Given the description of an element on the screen output the (x, y) to click on. 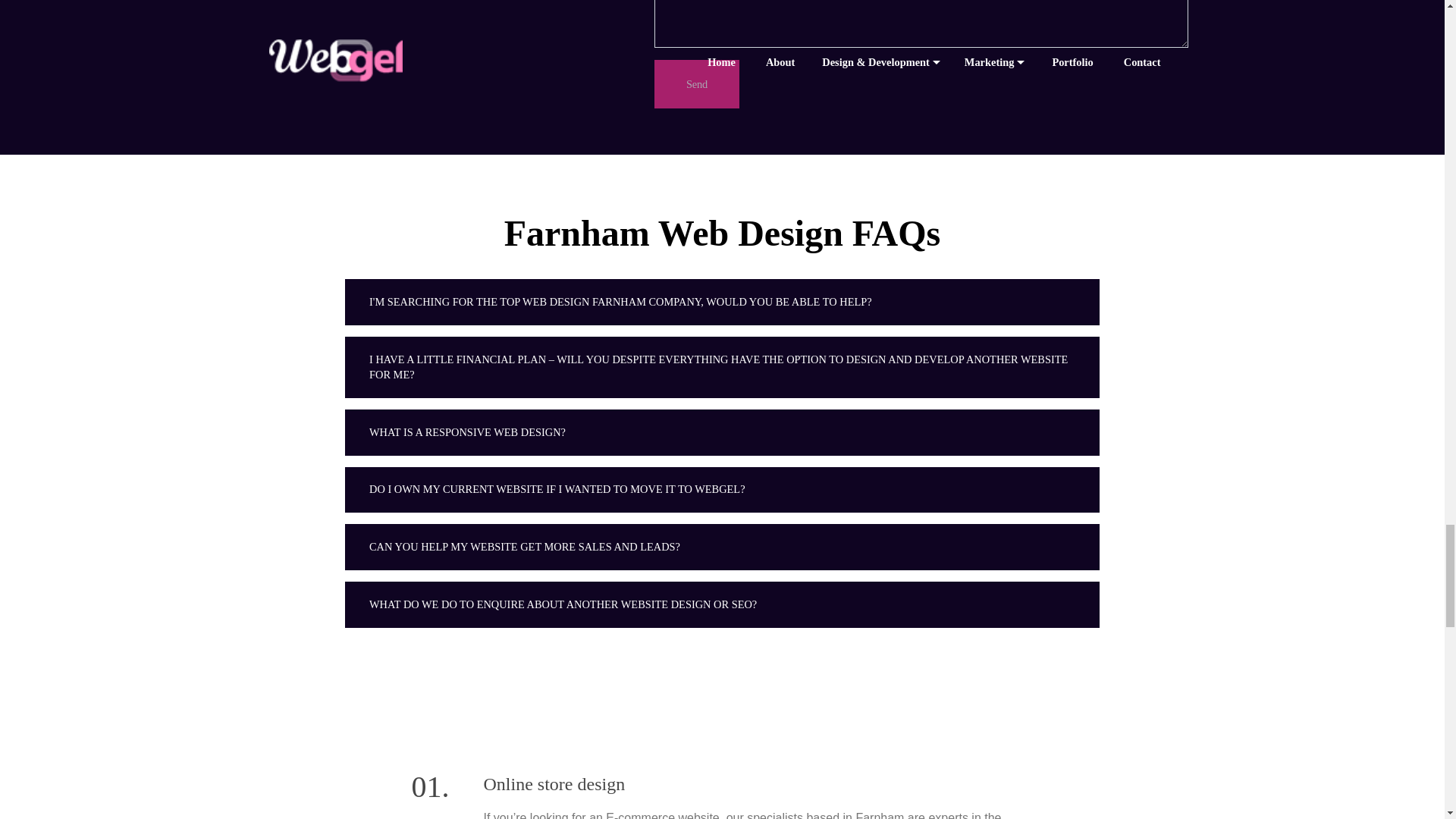
Send (695, 83)
